Given the description of an element on the screen output the (x, y) to click on. 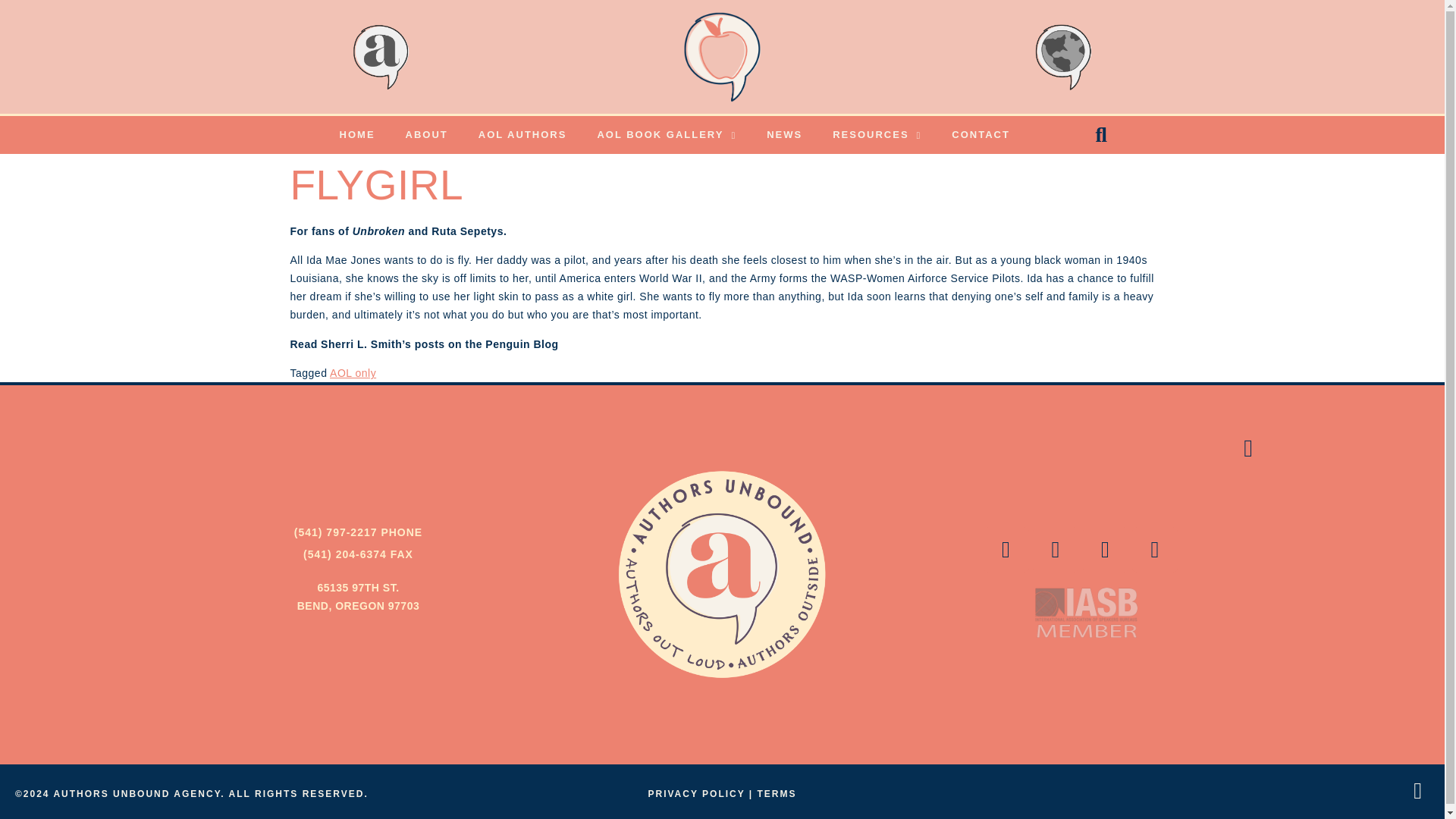
AOL only (352, 372)
HOME (357, 134)
RESOURCES (876, 134)
NEWS (783, 134)
ABOUT (426, 134)
CONTACT (980, 134)
AOL AUTHORS (522, 134)
AOL BOOK GALLERY (665, 134)
